Given the description of an element on the screen output the (x, y) to click on. 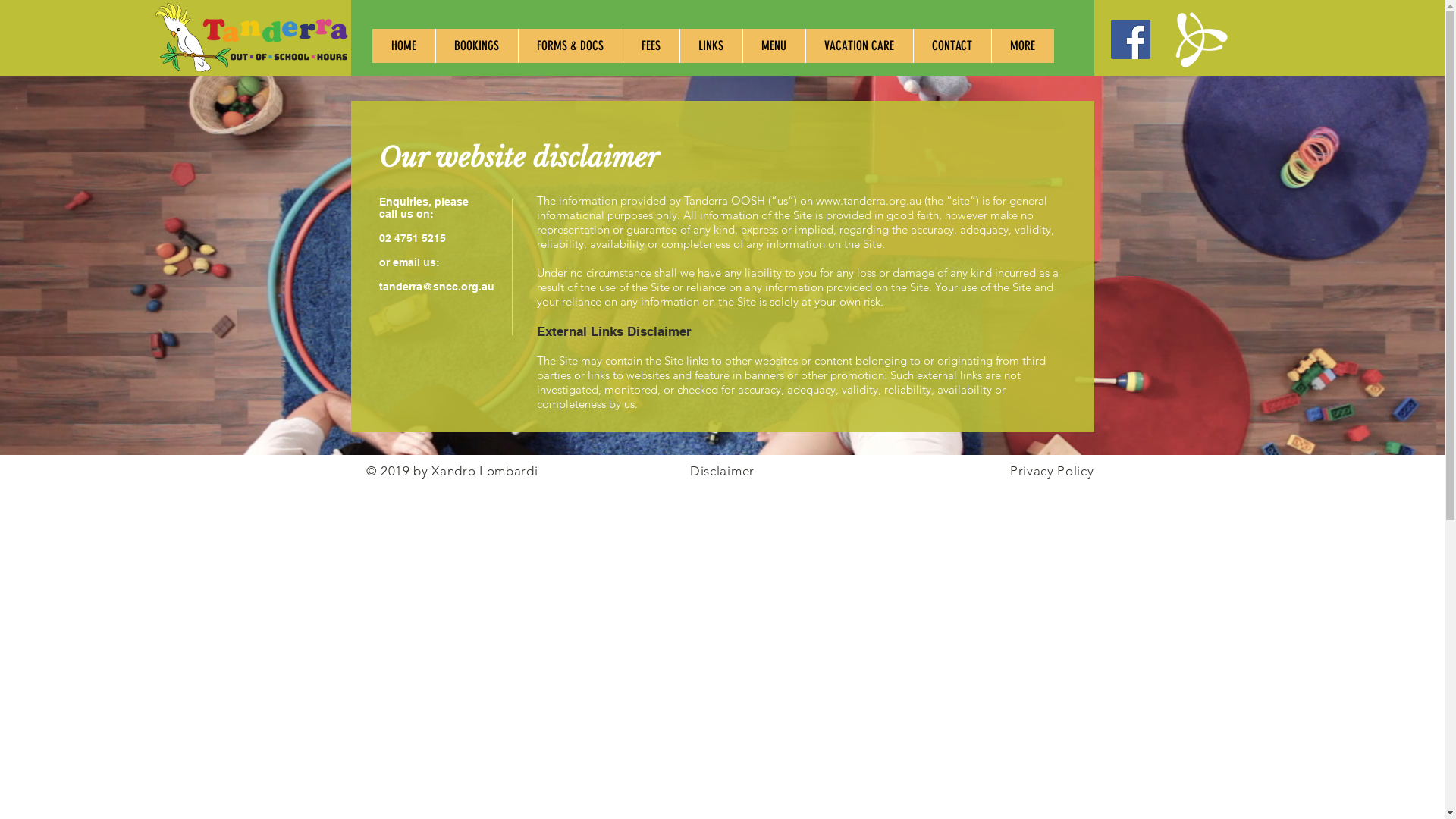
MENU Element type: text (772, 45)
Xandro Lombardi Element type: text (484, 470)
Disclaimer Element type: text (722, 470)
BOOKINGS Element type: text (476, 45)
FEES Element type: text (649, 45)
LINKS Element type: text (710, 45)
FORMS & DOCS Element type: text (569, 45)
VACATION CARE Element type: text (859, 45)
www.tanderra.org.au Element type: text (868, 200)
Privacy Policy Element type: text (1052, 470)
tanderra@sncc.org.au Element type: text (436, 286)
HOME Element type: text (402, 45)
CONTACT Element type: text (952, 45)
MORE Element type: text (1021, 45)
